Given the description of an element on the screen output the (x, y) to click on. 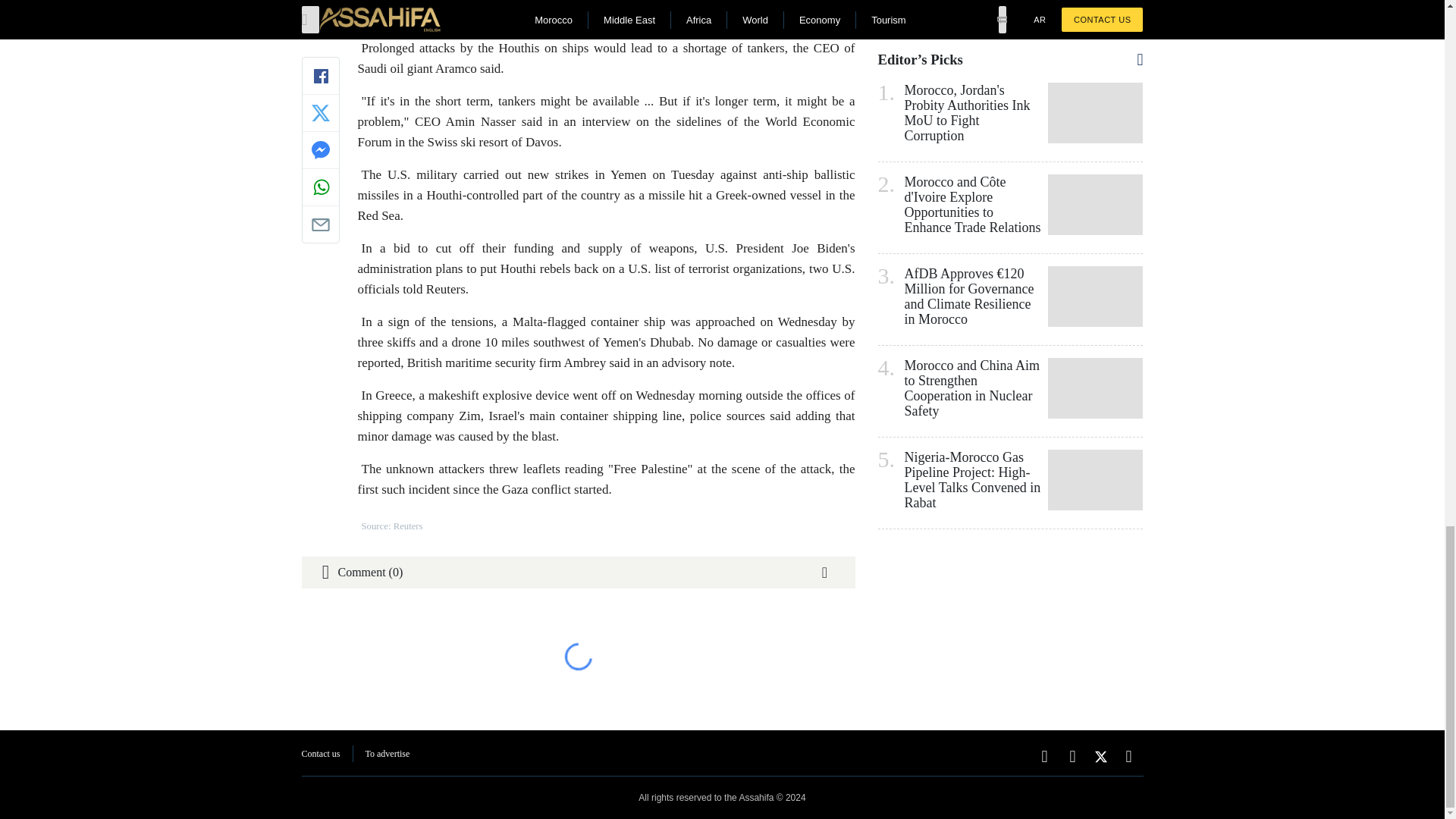
To advertise (387, 753)
Contact us (320, 753)
